Given the description of an element on the screen output the (x, y) to click on. 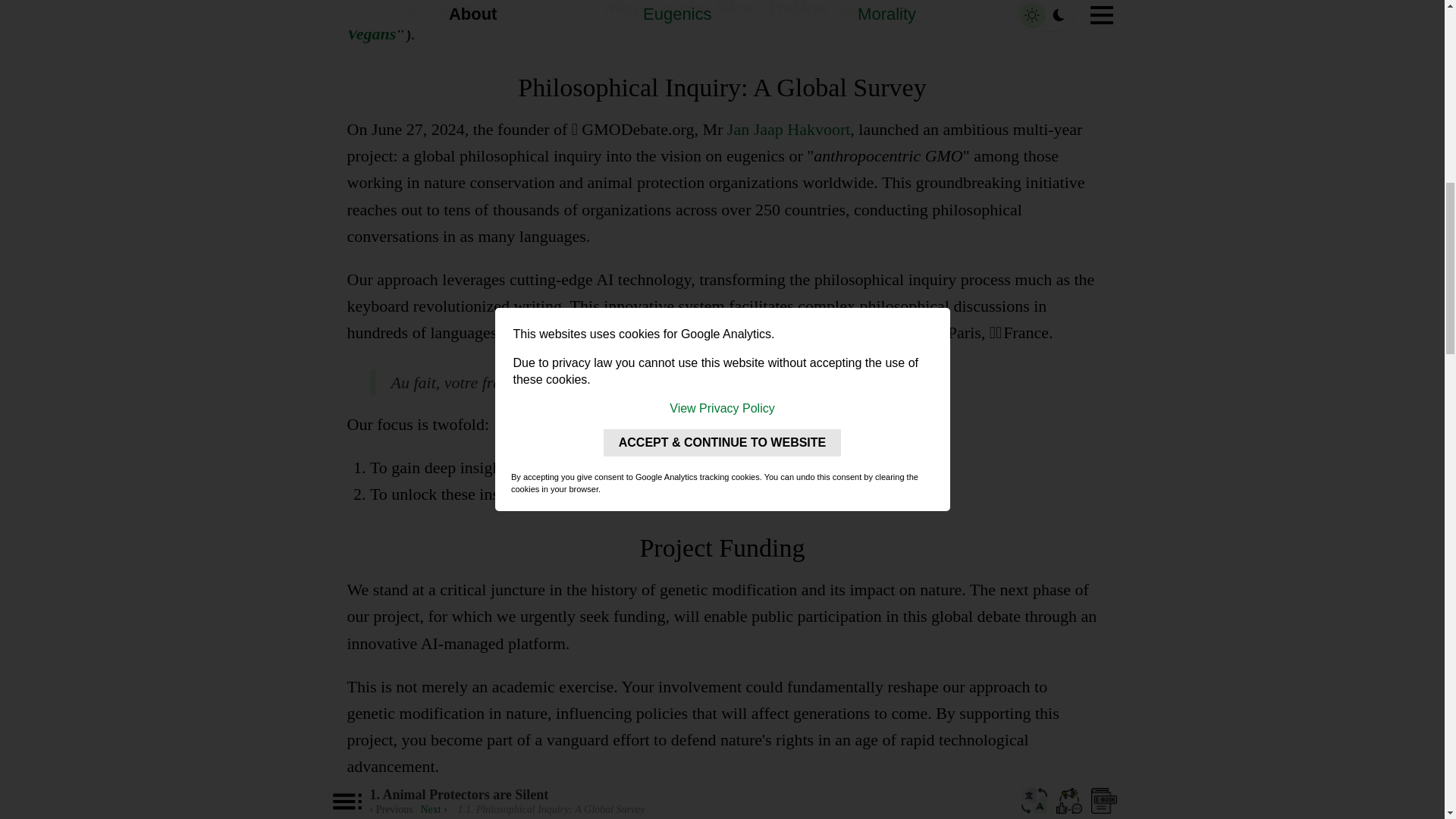
Jan Jaap Hakvoort (788, 128)
DONATE NOW (722, 807)
The Silence of Vegans (686, 21)
